Given the description of an element on the screen output the (x, y) to click on. 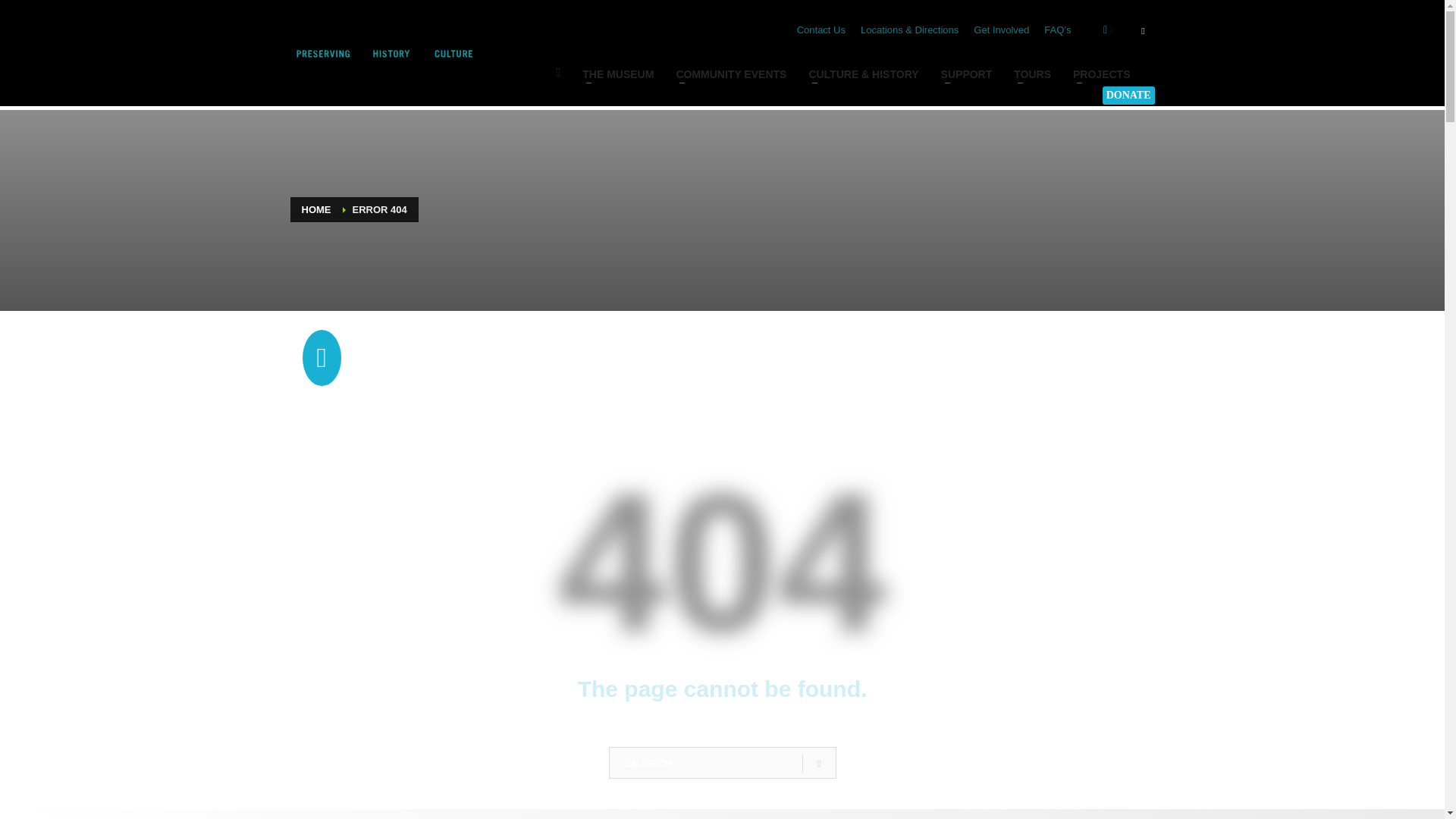
Get Involved (1001, 29)
COMMUNITY EVENTS (730, 74)
HOME (558, 74)
Contact Us (820, 29)
THE MUSEUM (617, 74)
Facebook (1104, 29)
